Given the description of an element on the screen output the (x, y) to click on. 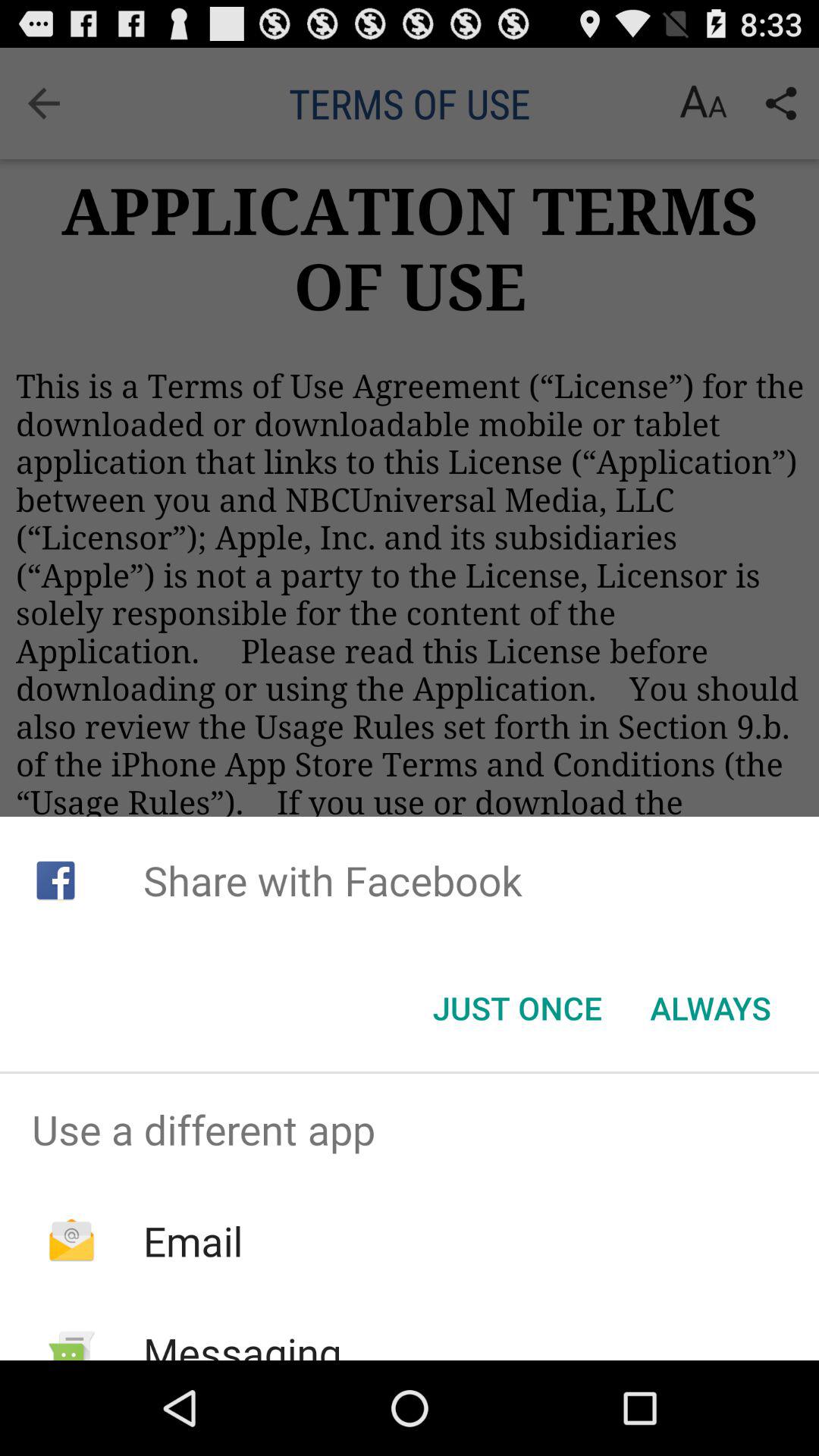
launch messaging (242, 1342)
